Given the description of an element on the screen output the (x, y) to click on. 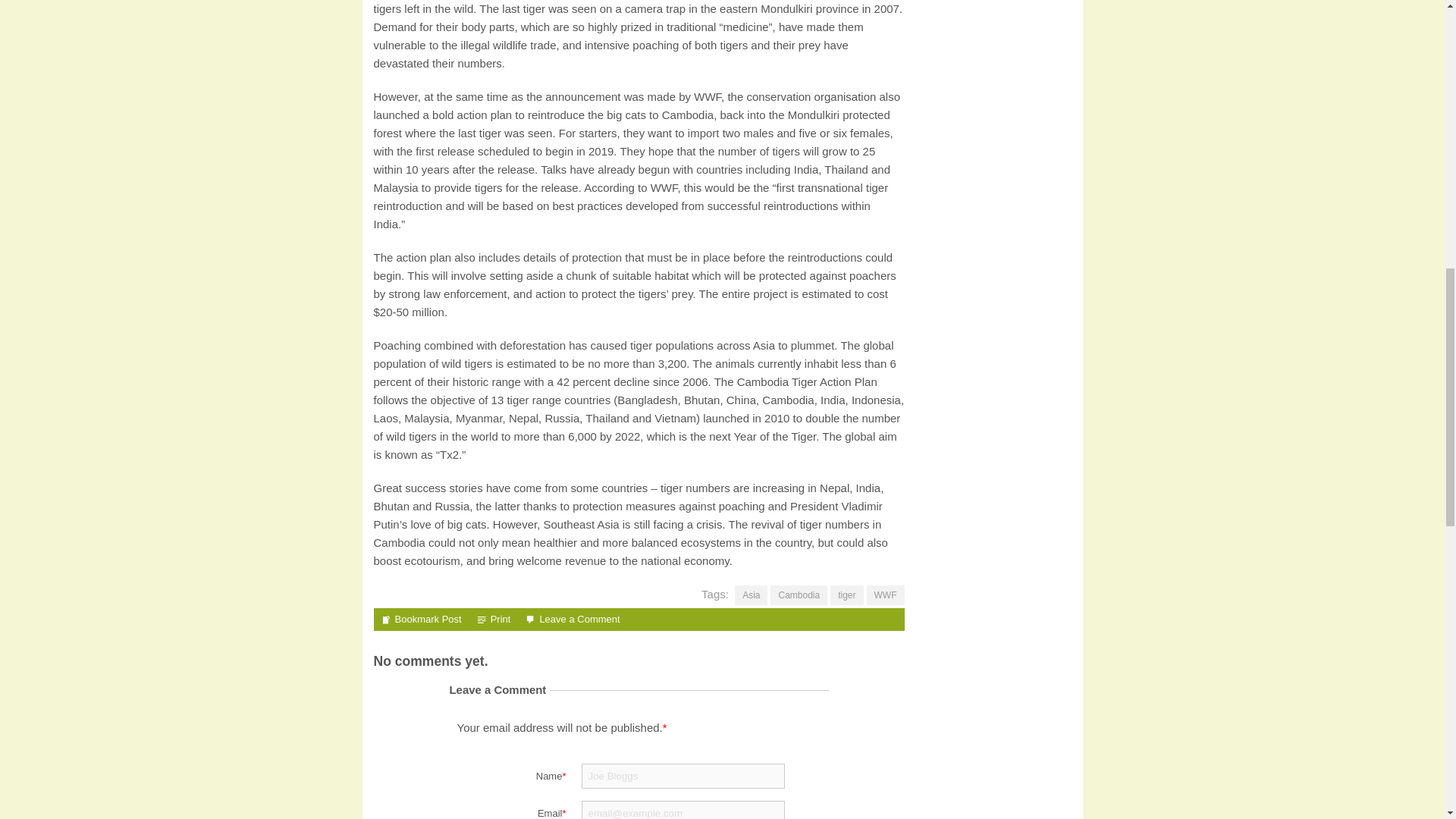
Leave a Comment (579, 618)
Bookmark Post (420, 618)
Print (494, 618)
Bookmark Post (420, 618)
Leave a Comment (579, 618)
tiger (846, 595)
WWF (885, 595)
Cambodia (798, 595)
Asia (751, 595)
Print Post (494, 618)
